Given the description of an element on the screen output the (x, y) to click on. 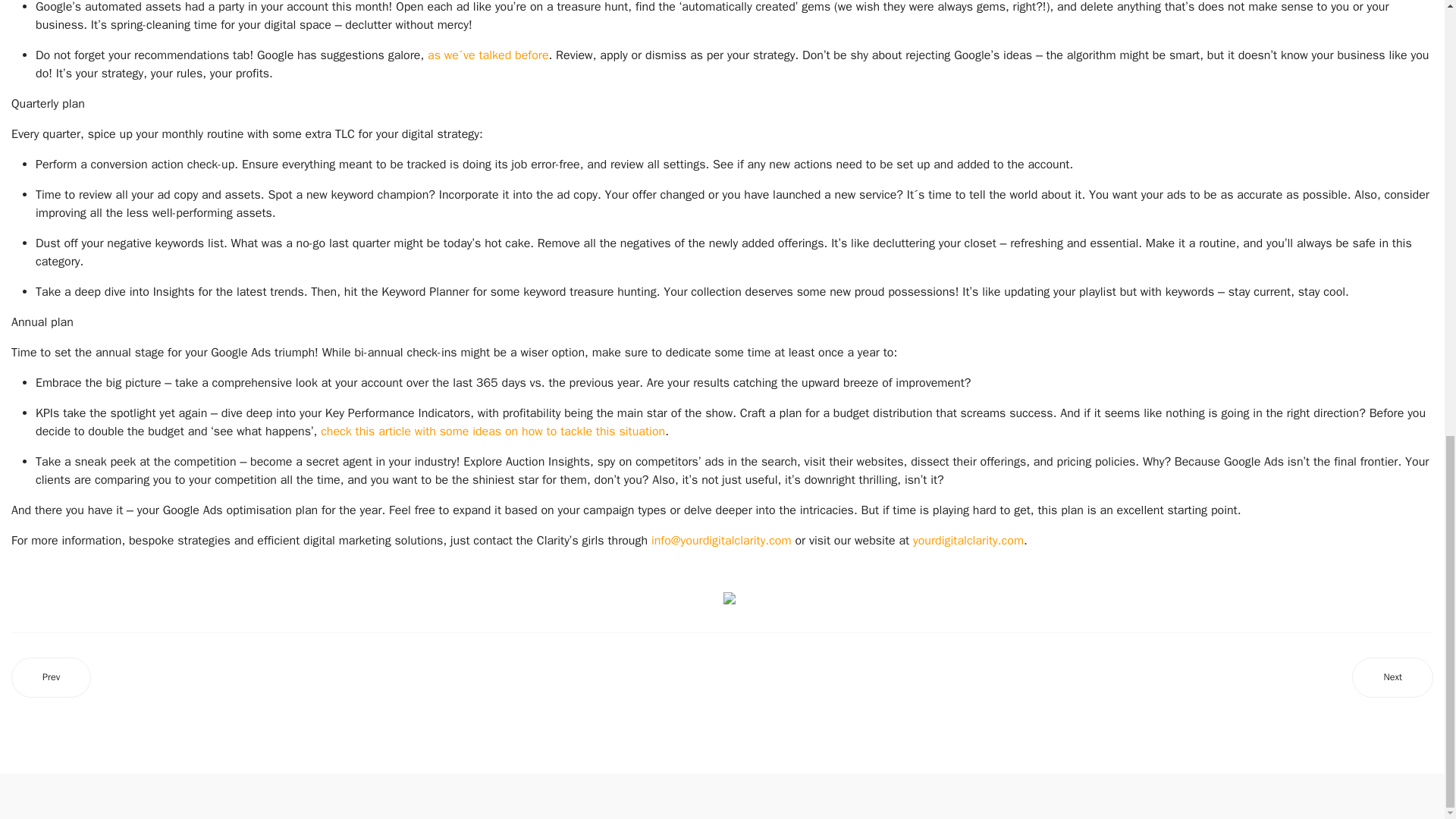
Nine significant ways to extend your commercial roof life! (50, 677)
Your Digital Clarity (967, 540)
